Given the description of an element on the screen output the (x, y) to click on. 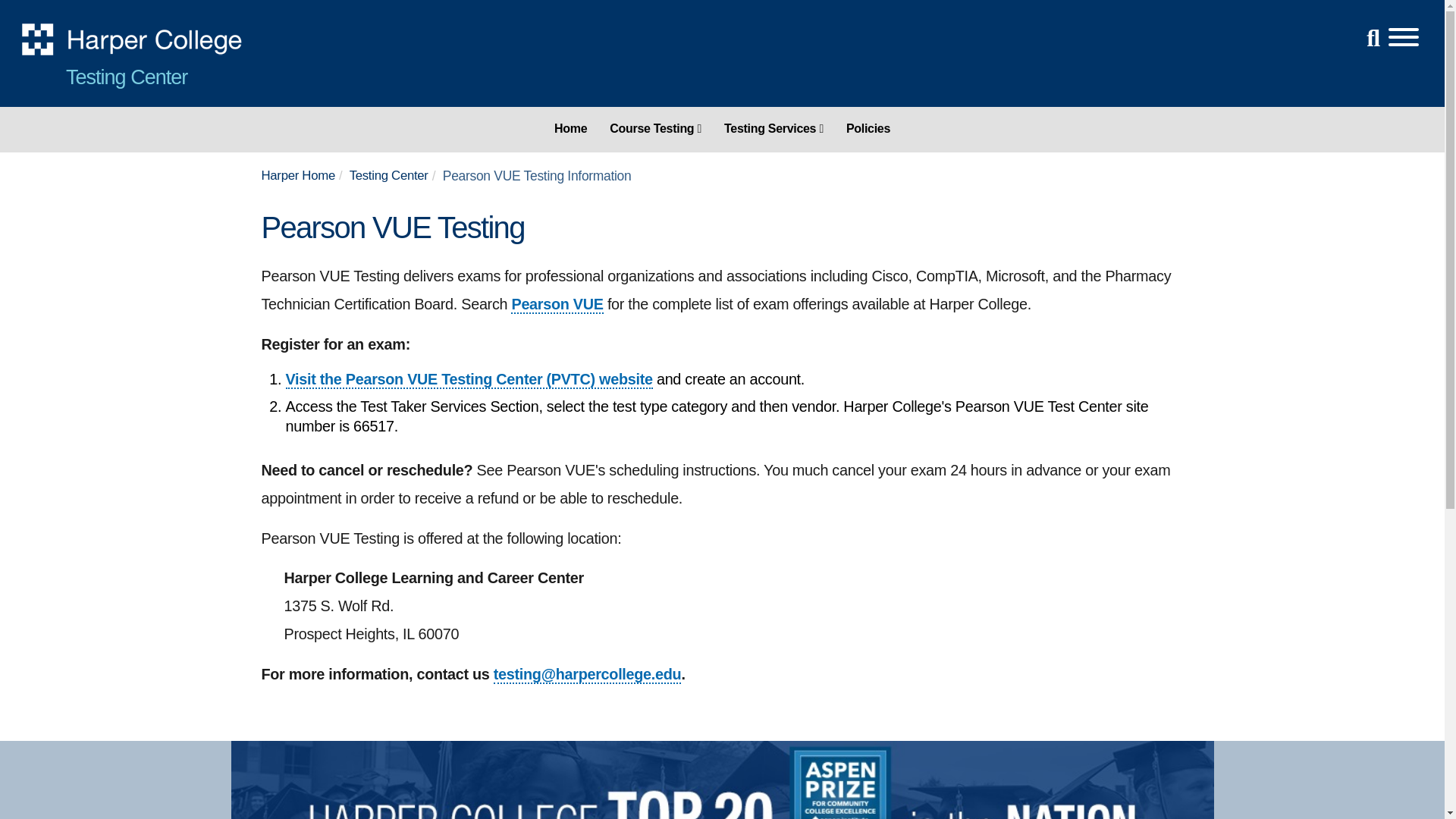
Home (570, 128)
Testing Center (126, 77)
Testing Services (773, 128)
Policies (867, 128)
Course Testing (655, 128)
